Given the description of an element on the screen output the (x, y) to click on. 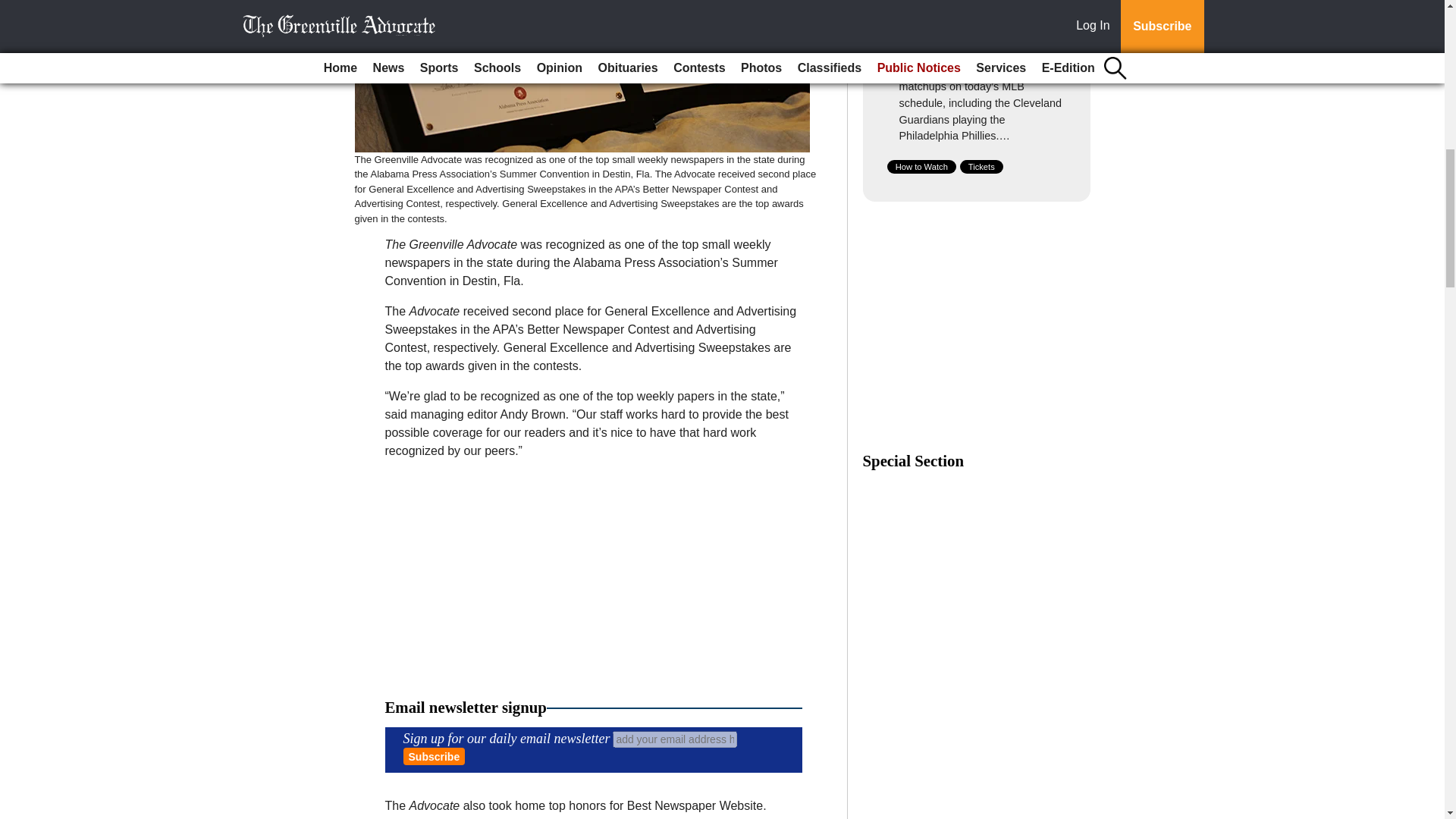
Subscribe (434, 755)
Subscribe (434, 755)
